Given the description of an element on the screen output the (x, y) to click on. 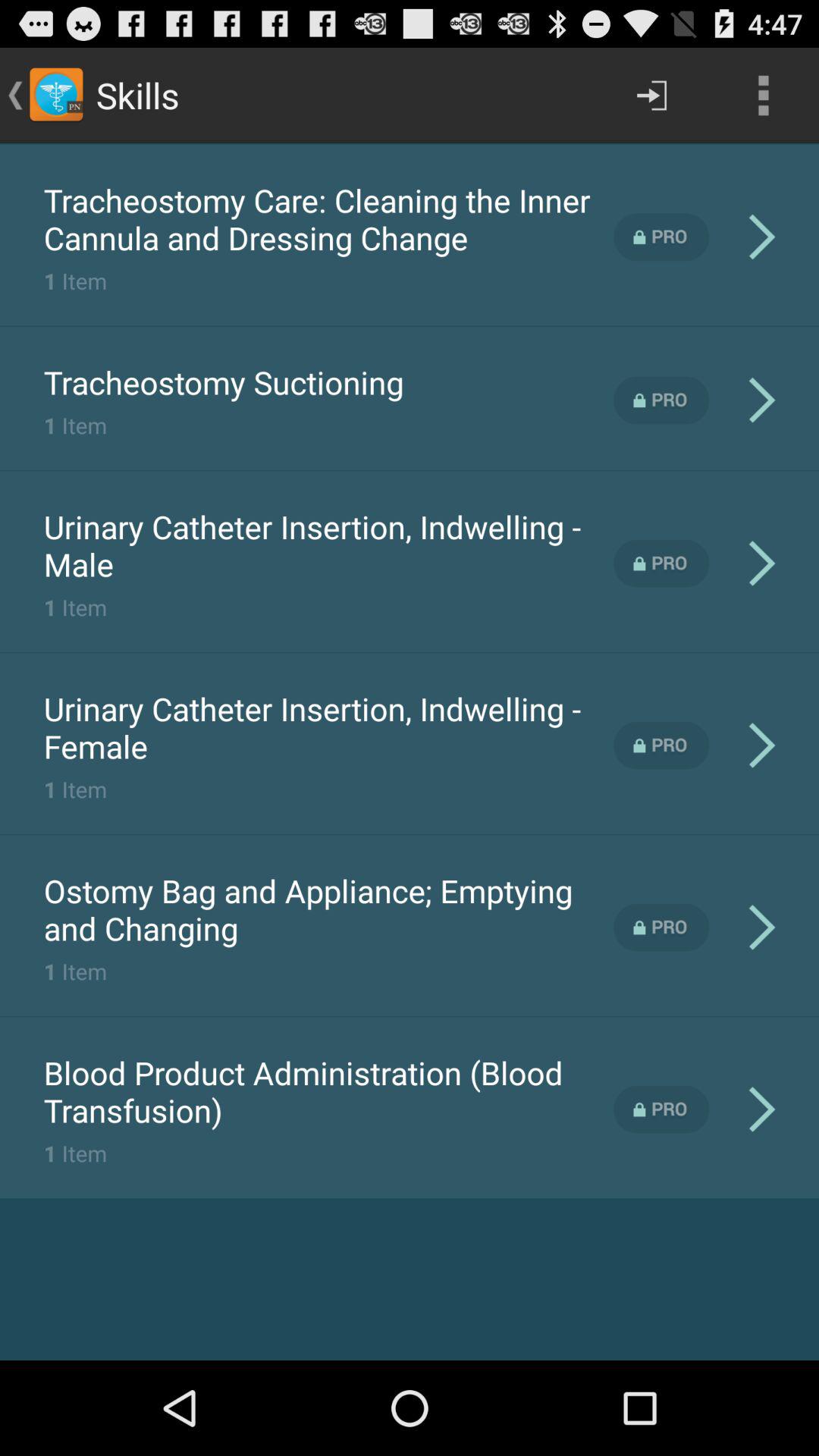
click the app above the 1 item item (328, 909)
